Given the description of an element on the screen output the (x, y) to click on. 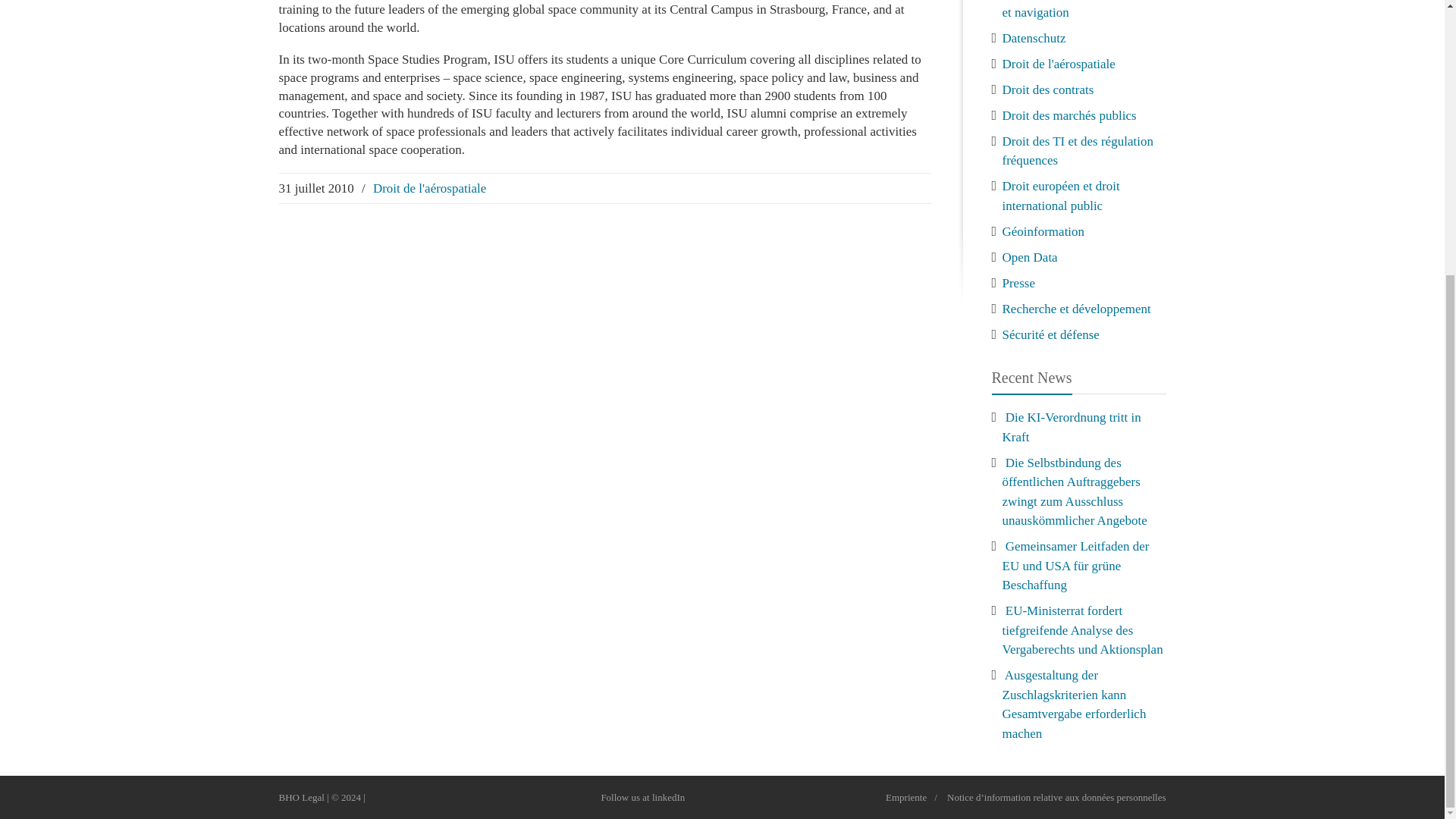
Communication des satellites et navigation (1078, 9)
Droit des contrats (1048, 89)
Presse (1019, 282)
Open Data (1030, 256)
Datenschutz (1034, 38)
